Given the description of an element on the screen output the (x, y) to click on. 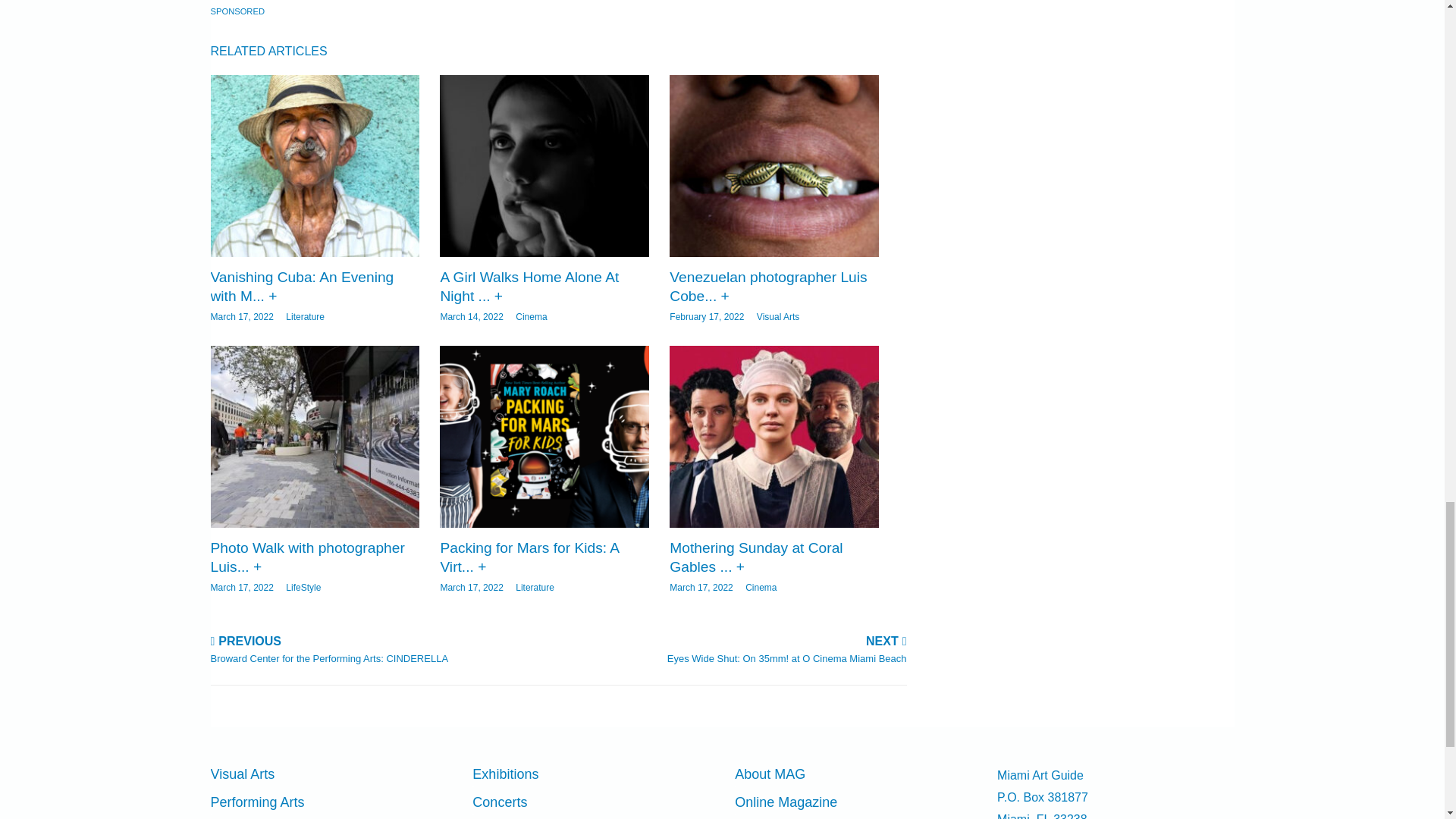
A Girl Walks Home Alone At Night at Coral Gables Art Cinema (543, 166)
A Girl Walks Home Alone At Night at Coral Gables Art Cinema (528, 286)
